Given the description of an element on the screen output the (x, y) to click on. 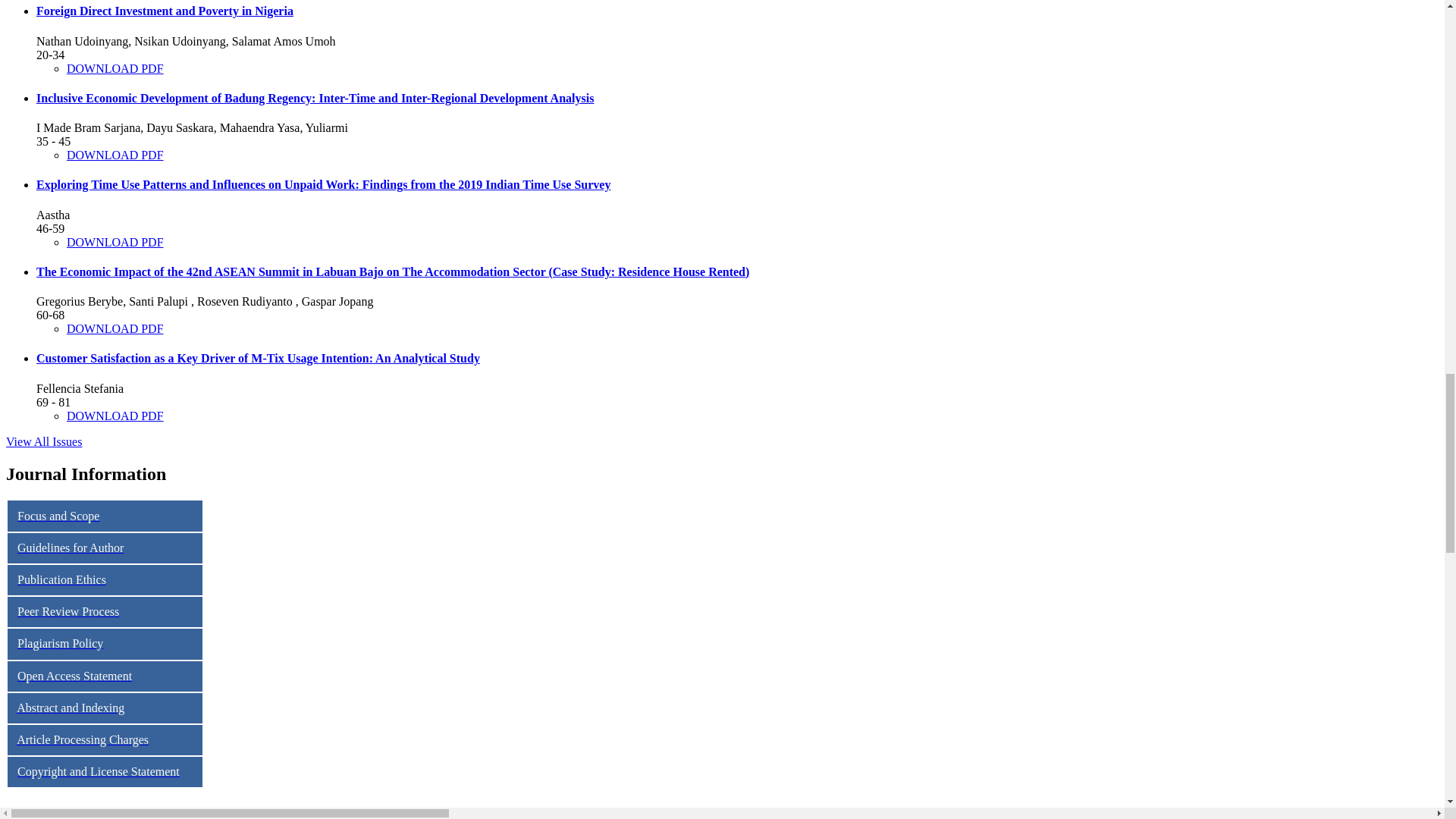
Foreign Direct Investment and Poverty in Nigeria (165, 10)
DOWNLOAD PDF (114, 154)
DOWNLOAD PDF (114, 241)
DOWNLOAD PDF (114, 68)
